Given the description of an element on the screen output the (x, y) to click on. 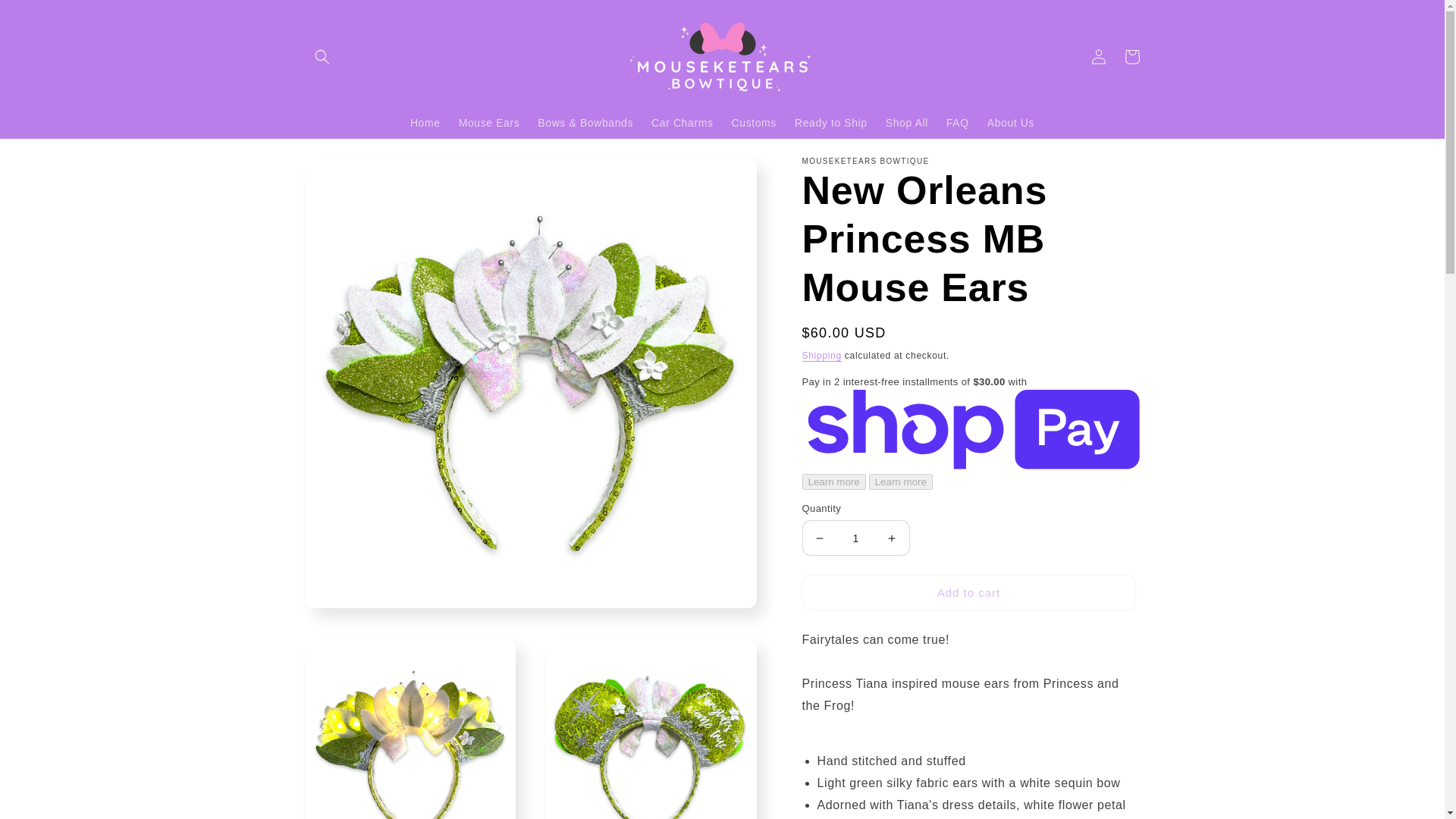
Car Charms (682, 122)
Skip to content (45, 17)
Mouse Ears (489, 122)
Skip to product information (350, 173)
Home (425, 122)
Ready to Ship (831, 122)
Shop All (906, 122)
Customs (754, 122)
Cart (1131, 56)
Log in (1098, 56)
